Given the description of an element on the screen output the (x, y) to click on. 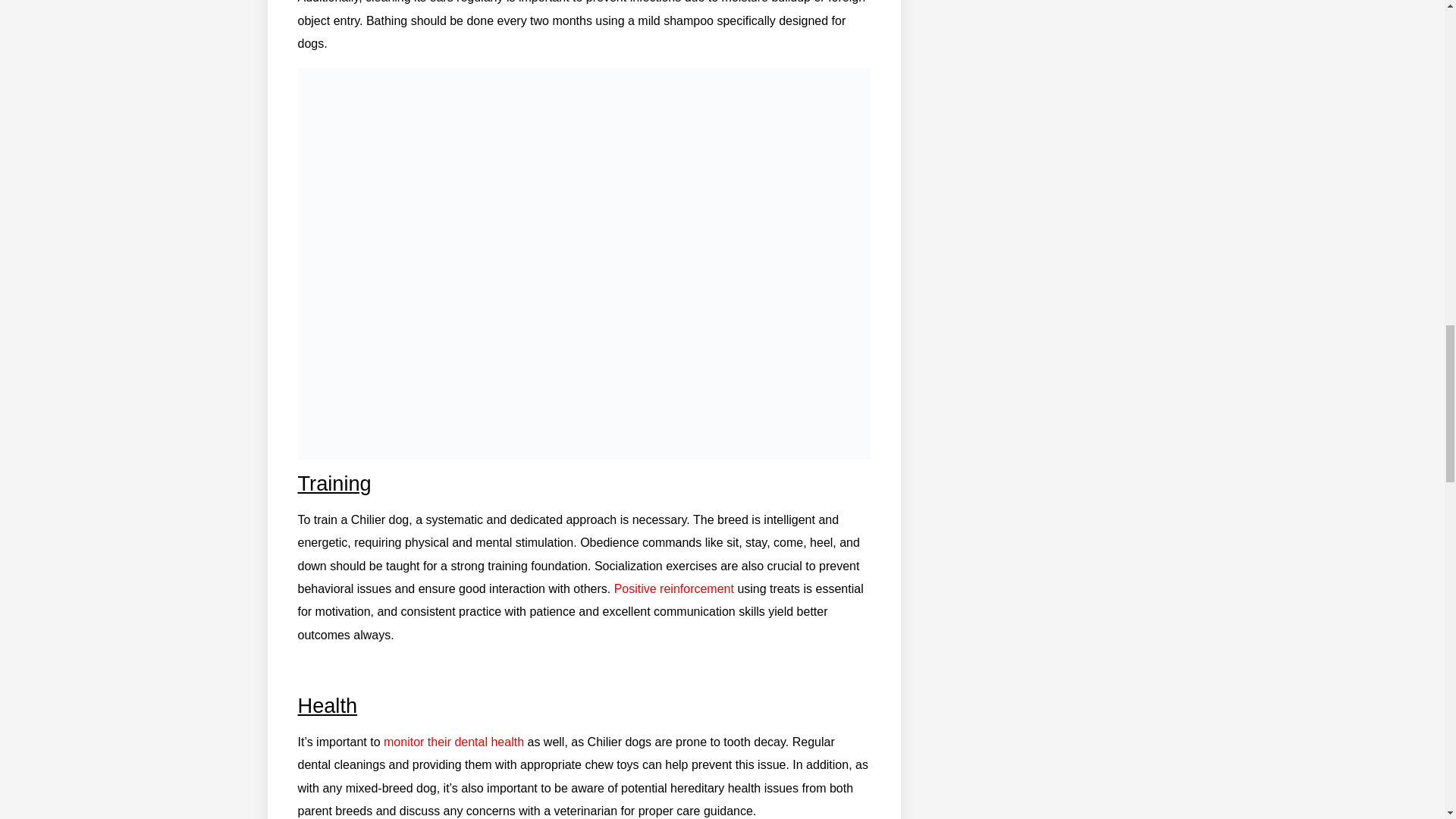
monitor their dental health (454, 741)
Positive reinforcement (673, 588)
